Given the description of an element on the screen output the (x, y) to click on. 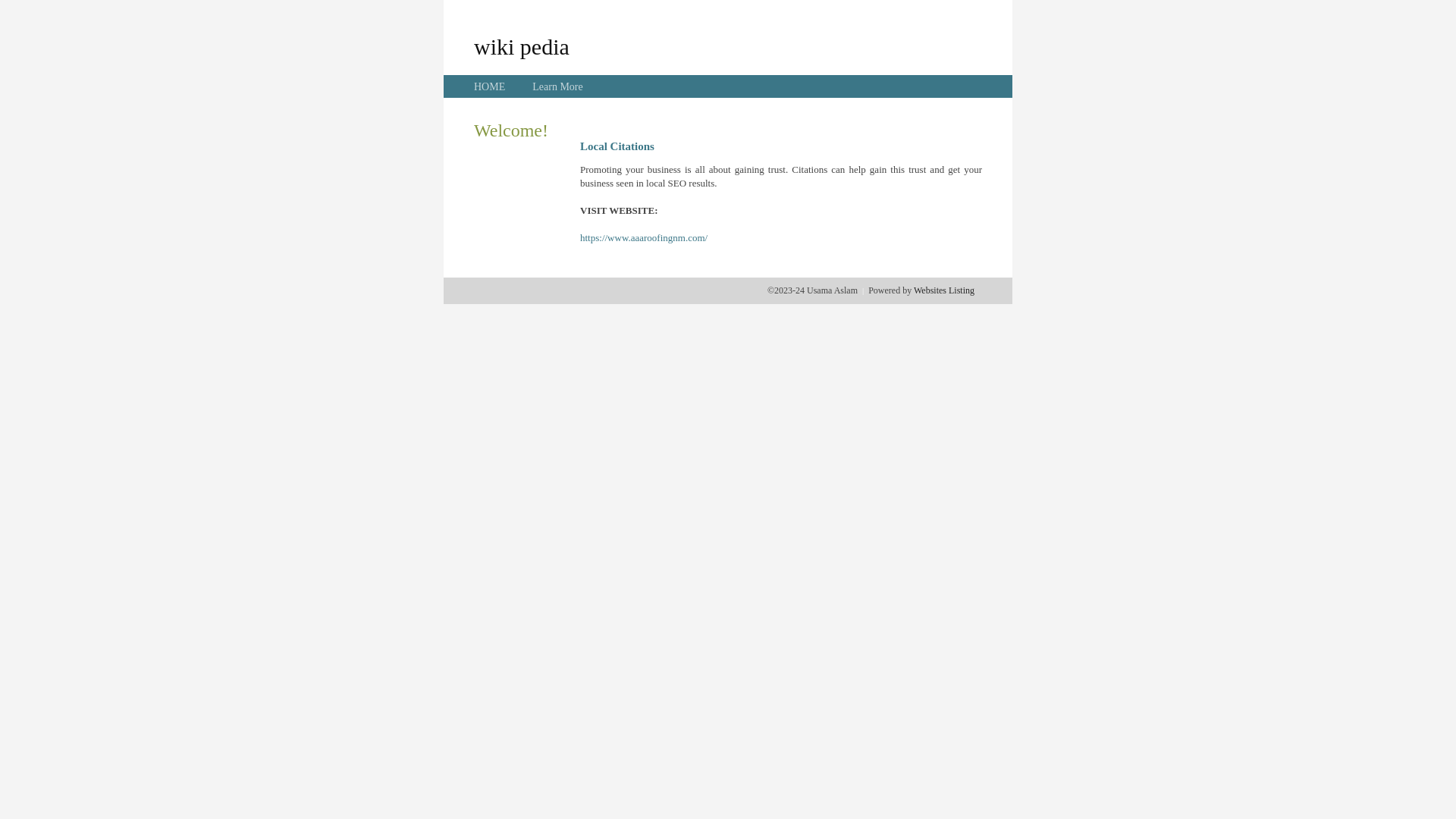
https://www.aaaroofingnm.com/ Element type: text (643, 237)
HOME Element type: text (489, 86)
Learn More Element type: text (557, 86)
wiki pedia Element type: text (521, 46)
Websites Listing Element type: text (943, 290)
